Given the description of an element on the screen output the (x, y) to click on. 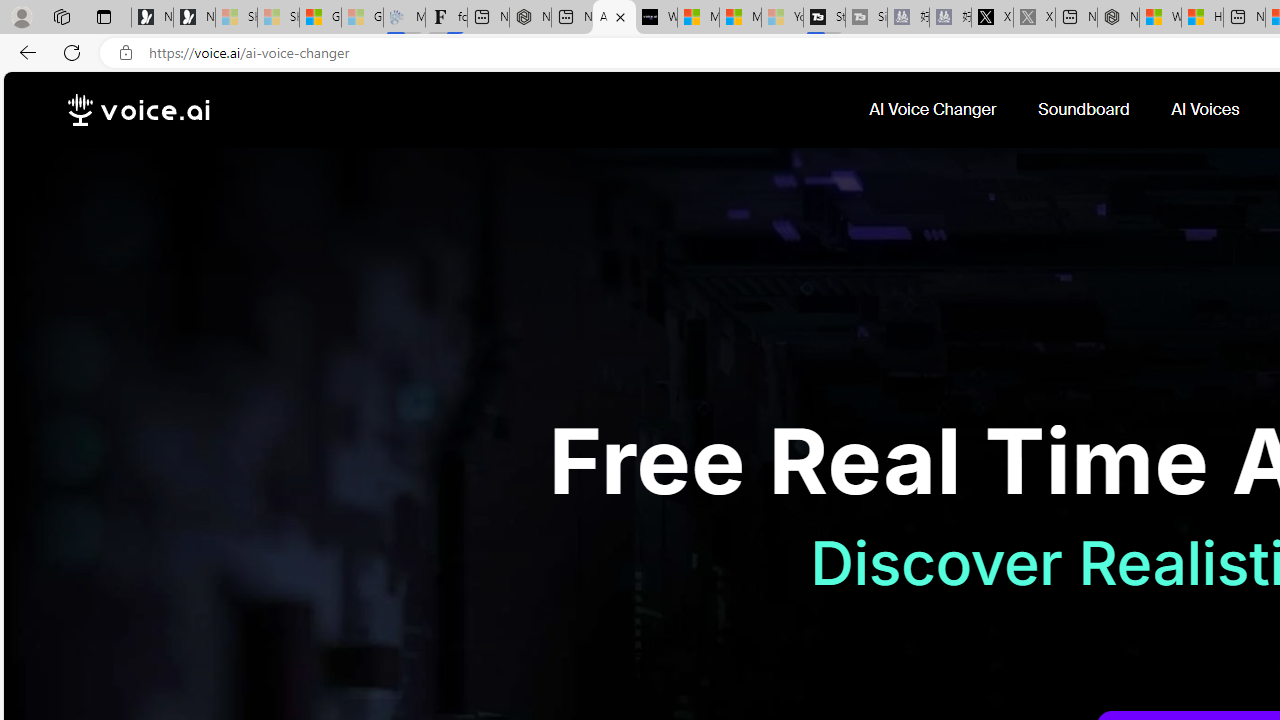
voice.ai (138, 109)
AI Voice Changer for PC and Mac - Voice.ai (613, 17)
Nordace - My Account (1118, 17)
AI Voice Changer  (934, 109)
